Given the description of an element on the screen output the (x, y) to click on. 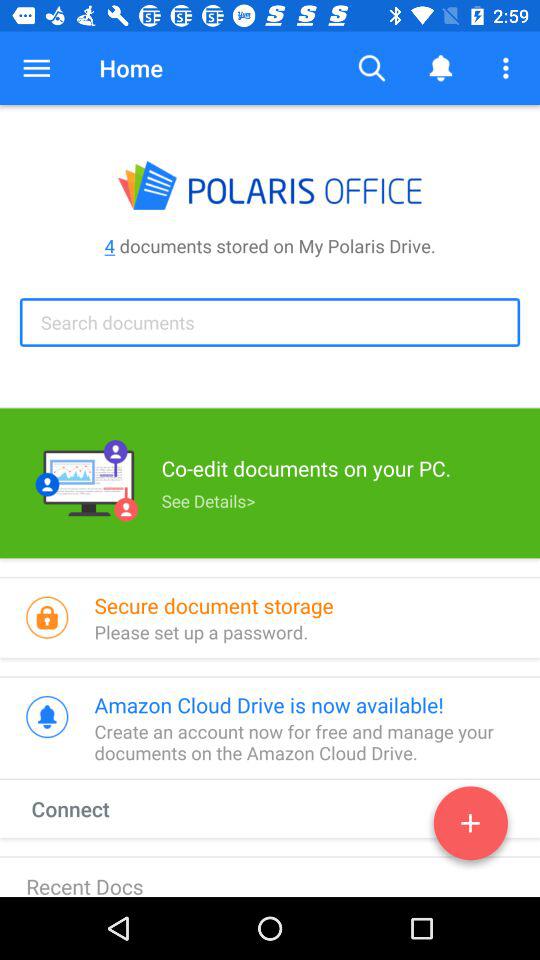
create new document (470, 827)
